Given the description of an element on the screen output the (x, y) to click on. 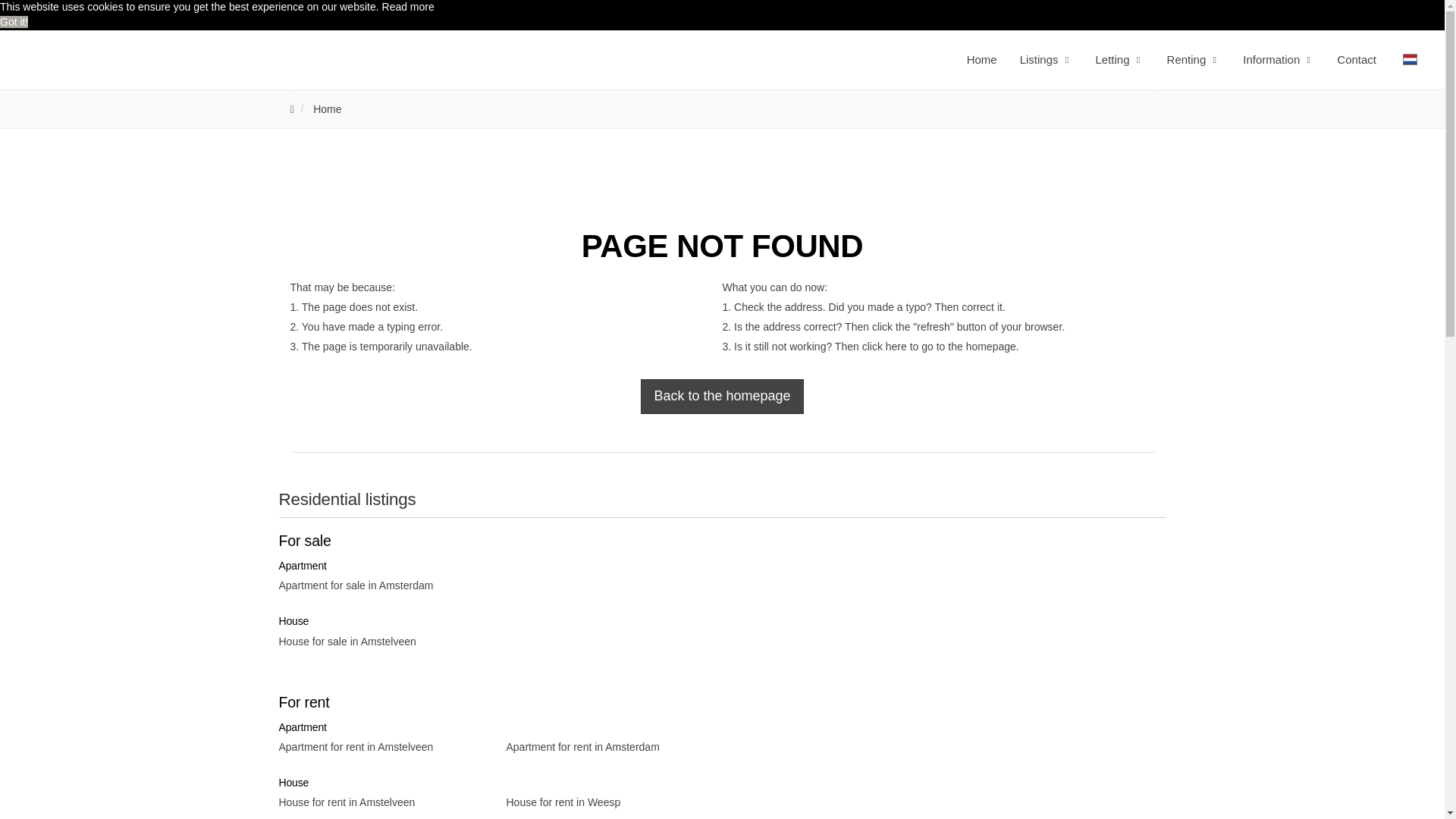
Apartment for sale in Amsterdam (381, 585)
Renting (1194, 59)
The Rental Agency Amsterdam (125, 60)
Nederlands (1409, 59)
Information (1278, 59)
Home (981, 59)
House for rent in Amstelveen (381, 802)
Letting (1118, 59)
Got it! (13, 21)
House for rent in Weesp (608, 802)
Back to the homepage (721, 396)
Apartment for rent in Amsterdam (608, 746)
House for sale in Amstelveen (381, 640)
Read more (407, 6)
Home (326, 109)
